Given the description of an element on the screen output the (x, y) to click on. 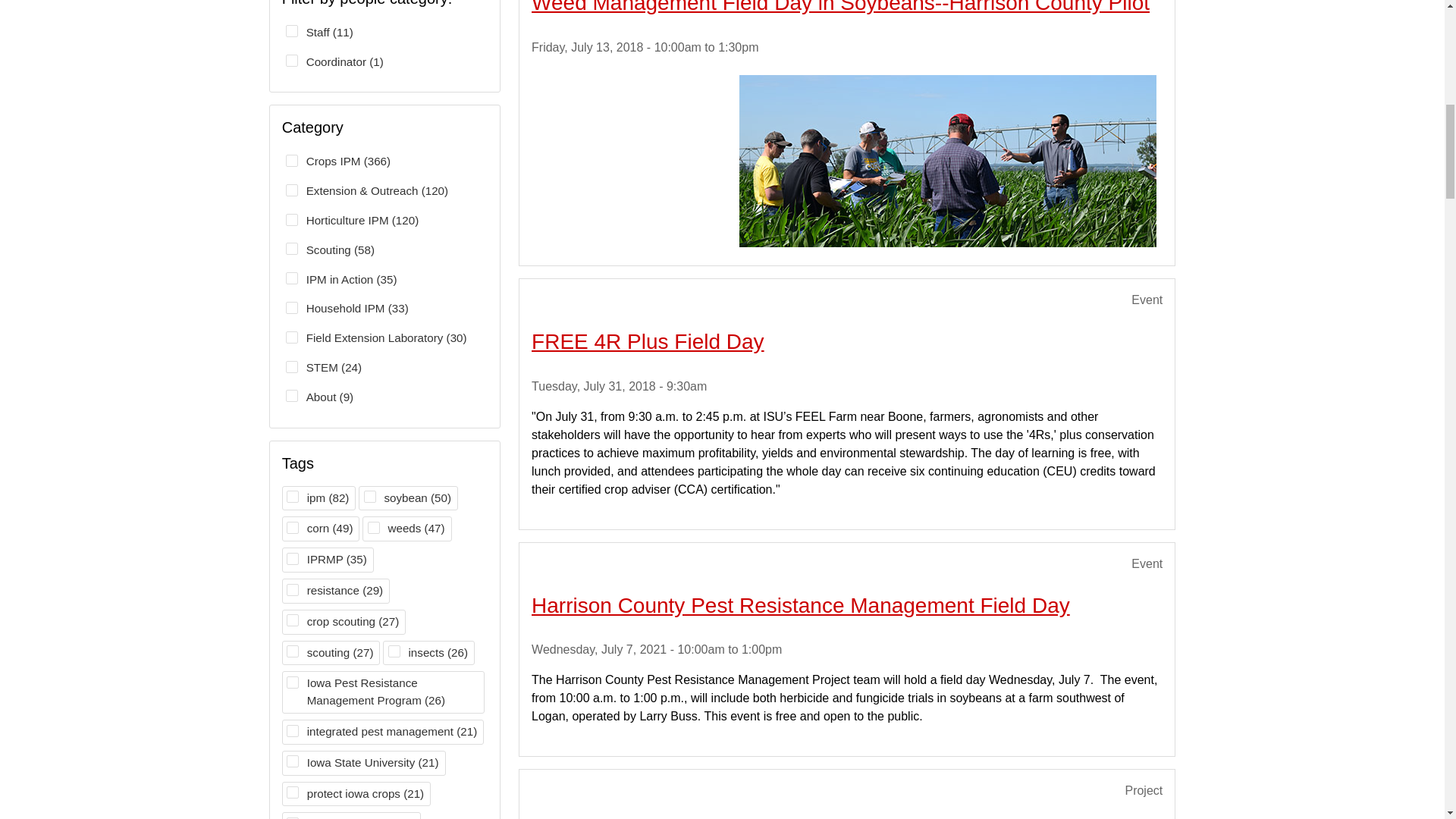
Event content type (1146, 300)
Event content type (1146, 564)
Weed Management Field Day in Soybeans--Harrison County Pilot (840, 7)
FREE 4R Plus Field Day (647, 341)
Harrison County Pest Resistance Management Field Day (800, 605)
